Given the description of an element on the screen output the (x, y) to click on. 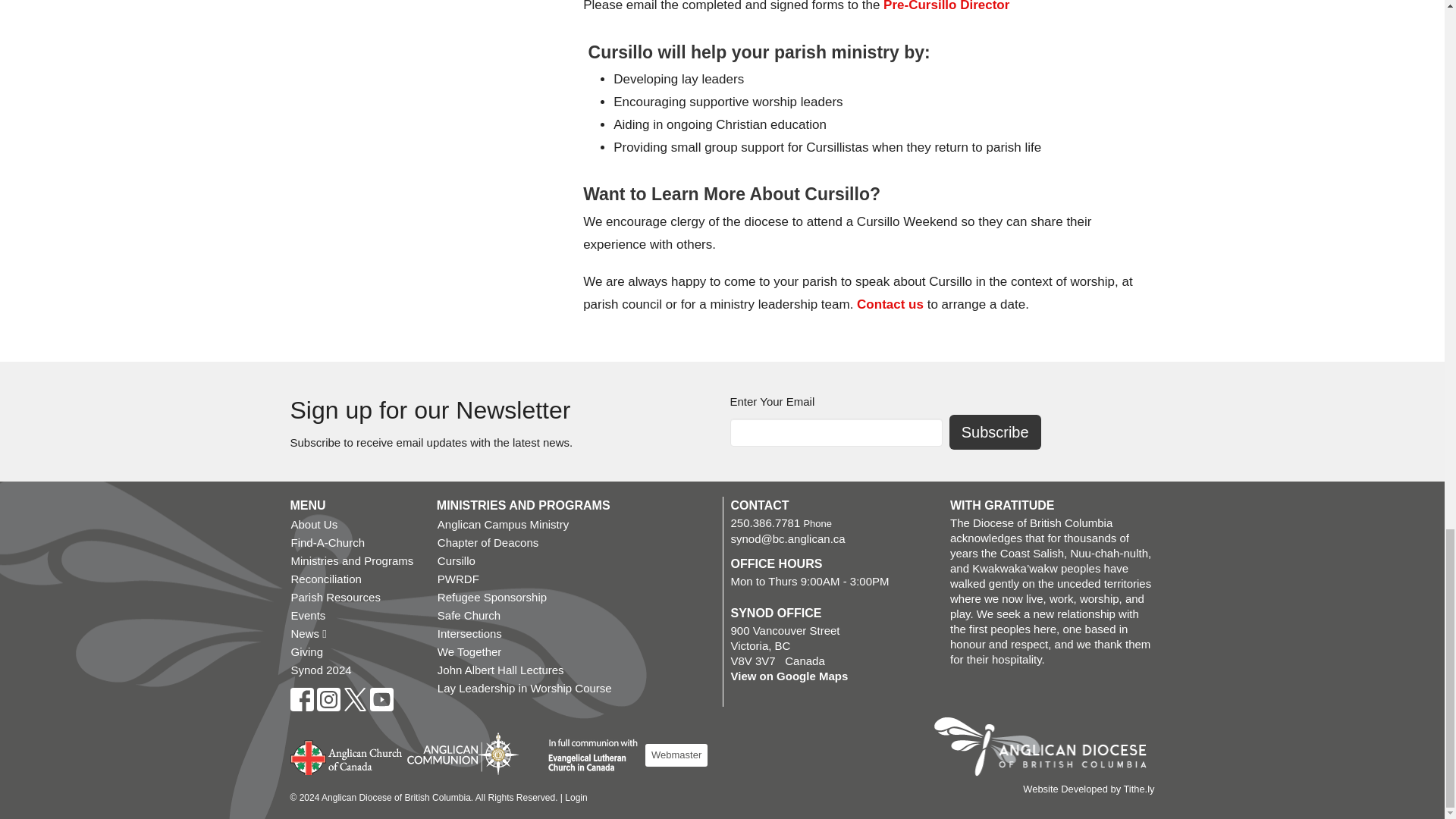
About Us (354, 524)
Instagram Icon (328, 699)
Subscribe (995, 432)
Facebook Icon (301, 699)
Pre-Cursillo Director (946, 6)
Youtube Icon (381, 699)
Contact us (890, 304)
Twitter Icon (354, 699)
